Given the description of an element on the screen output the (x, y) to click on. 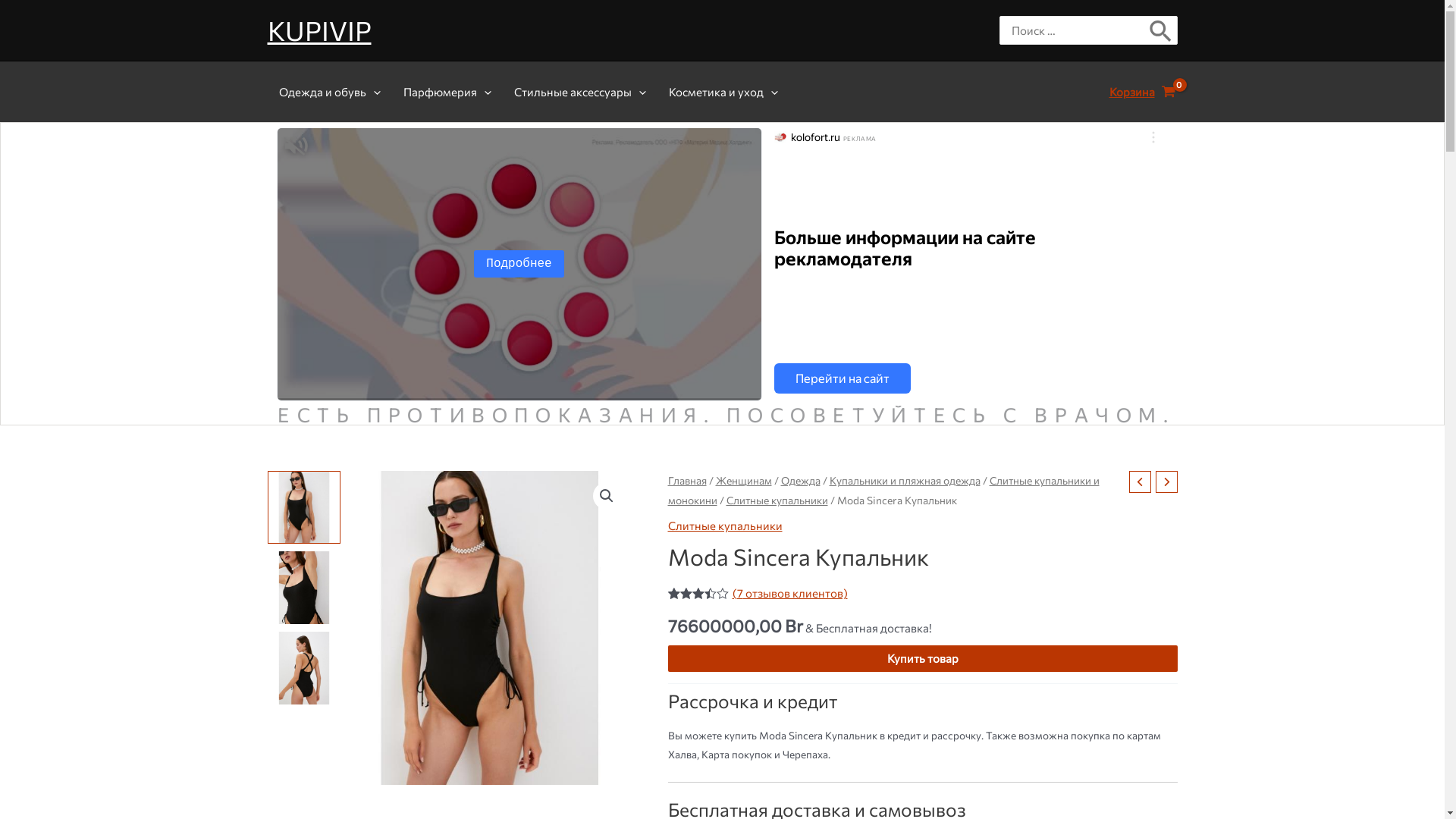
KUPIVIP Element type: text (318, 29)
